Given the description of an element on the screen output the (x, y) to click on. 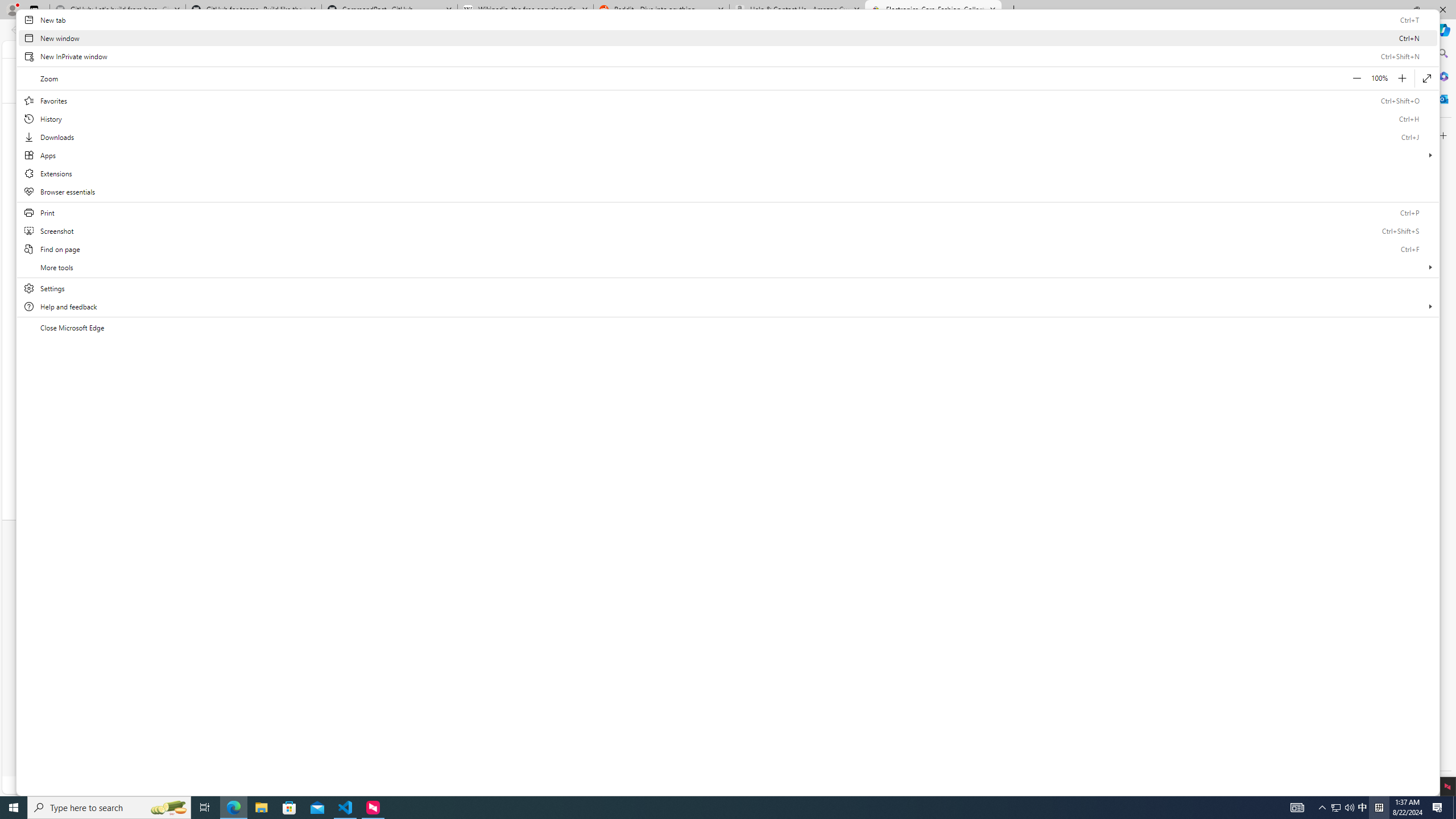
Help & Contact Us - Amazon Customer Service - Sleeping (797, 9)
Accessibility (530, 749)
Twitter (668, 604)
Start selling (524, 573)
Daily Deals (464, 49)
eBay Money Back Guarantee (412, 587)
Investors (812, 600)
Sports (699, 112)
Registration (412, 573)
